Given the description of an element on the screen output the (x, y) to click on. 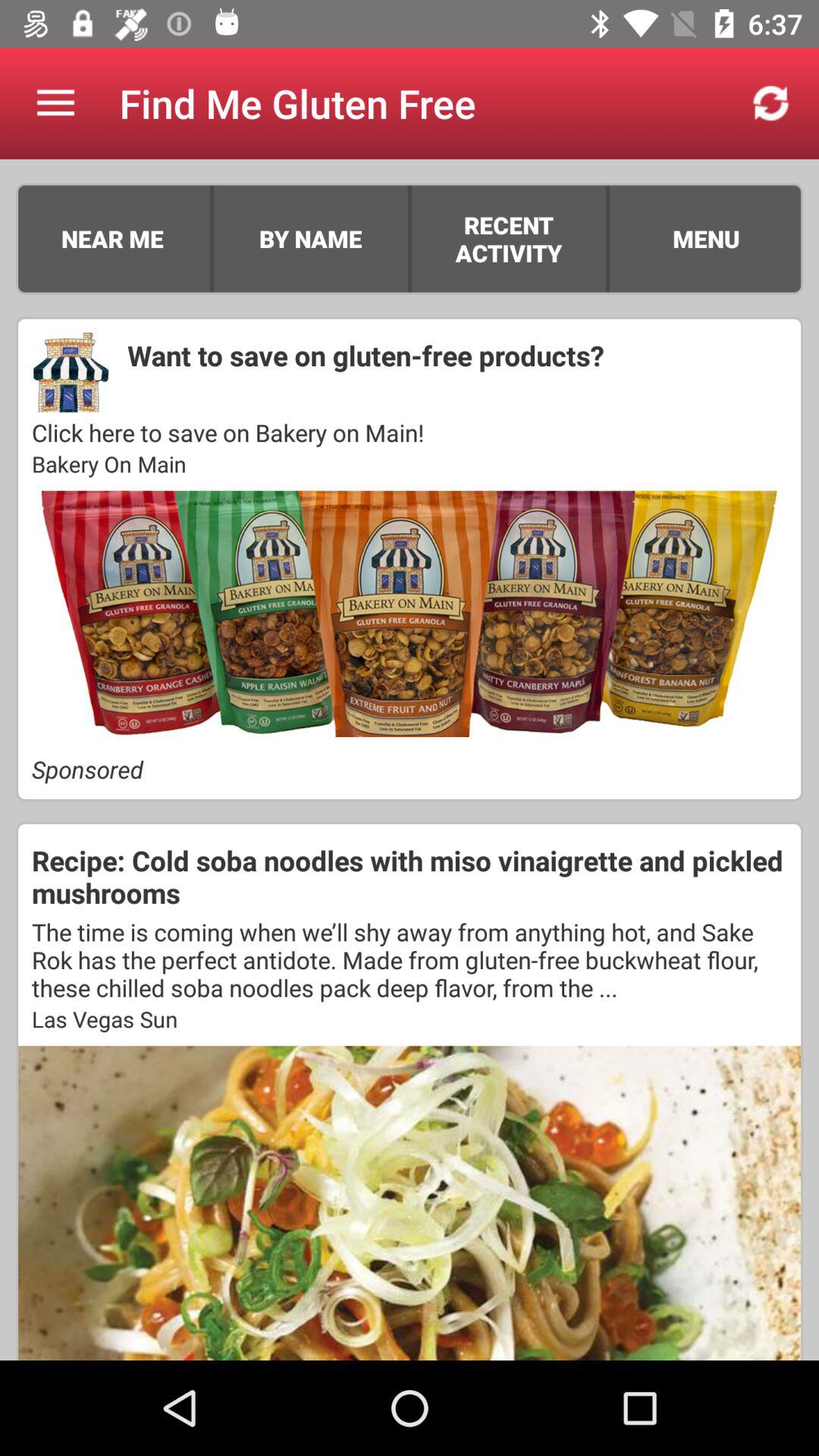
turn on the icon above near me (55, 103)
